Given the description of an element on the screen output the (x, y) to click on. 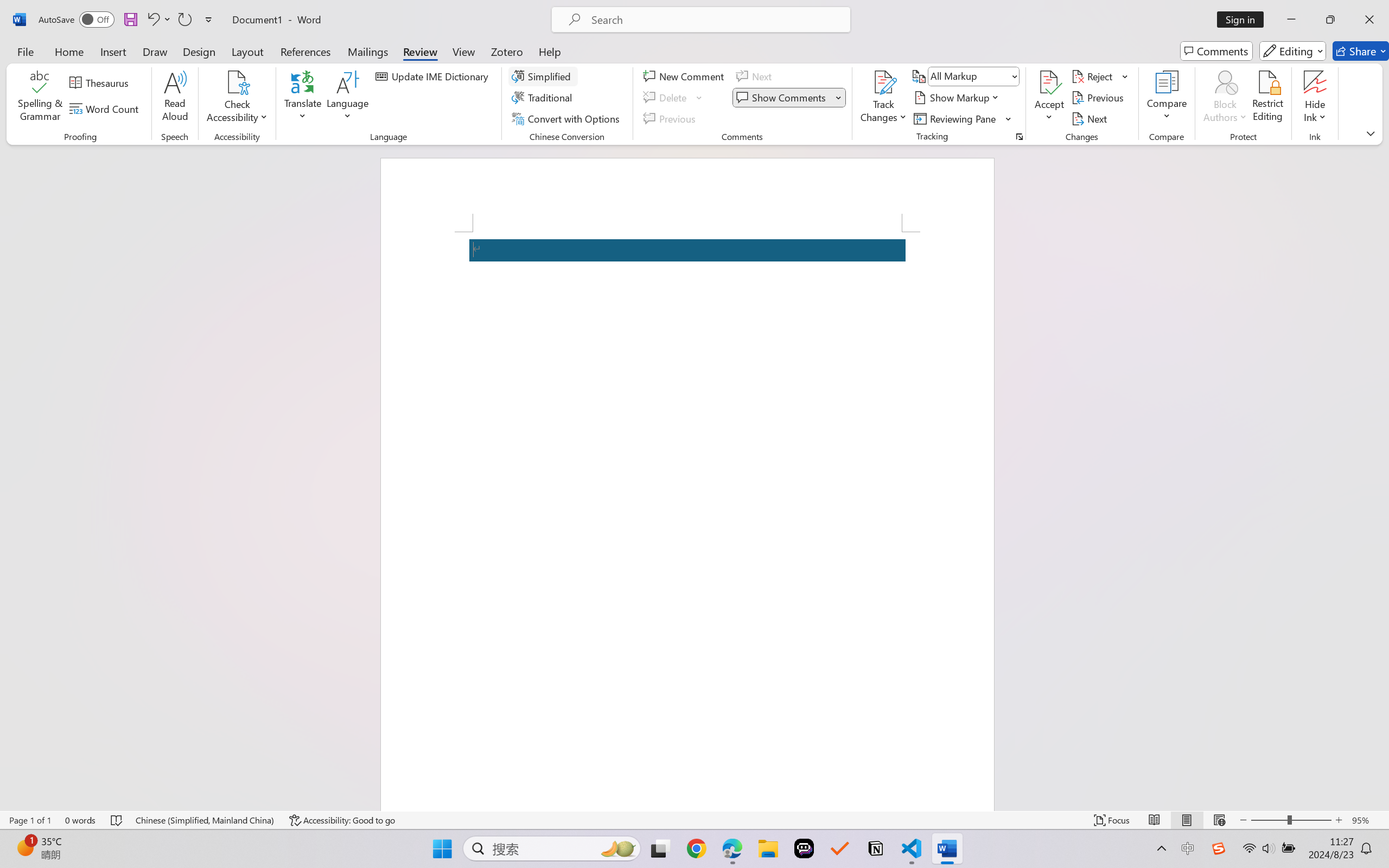
Sign in (1244, 19)
Reject and Move to Next (1093, 75)
Spelling & Grammar (39, 97)
Check Accessibility (237, 97)
Simplified (542, 75)
Restrict Editing (1267, 97)
Delete (673, 97)
Display for Review (973, 75)
Accept (1049, 97)
Translate (303, 97)
